Given the description of an element on the screen output the (x, y) to click on. 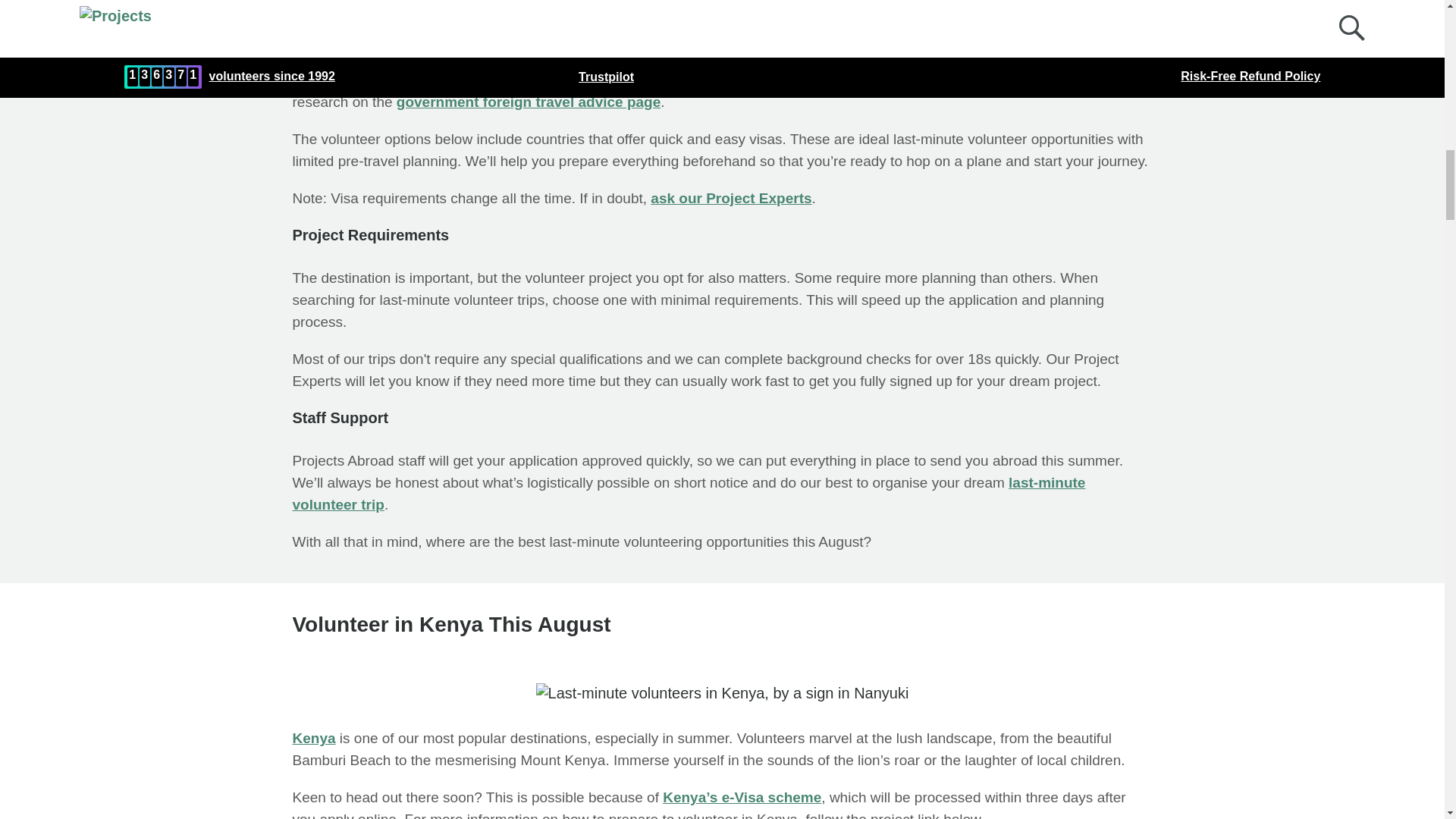
Kenya (314, 738)
government foreign travel advice page (528, 101)
Fiji (583, 57)
ask our Project Experts (730, 198)
Ghana (530, 57)
last-minute volunteer trip (689, 493)
